Given the description of an element on the screen output the (x, y) to click on. 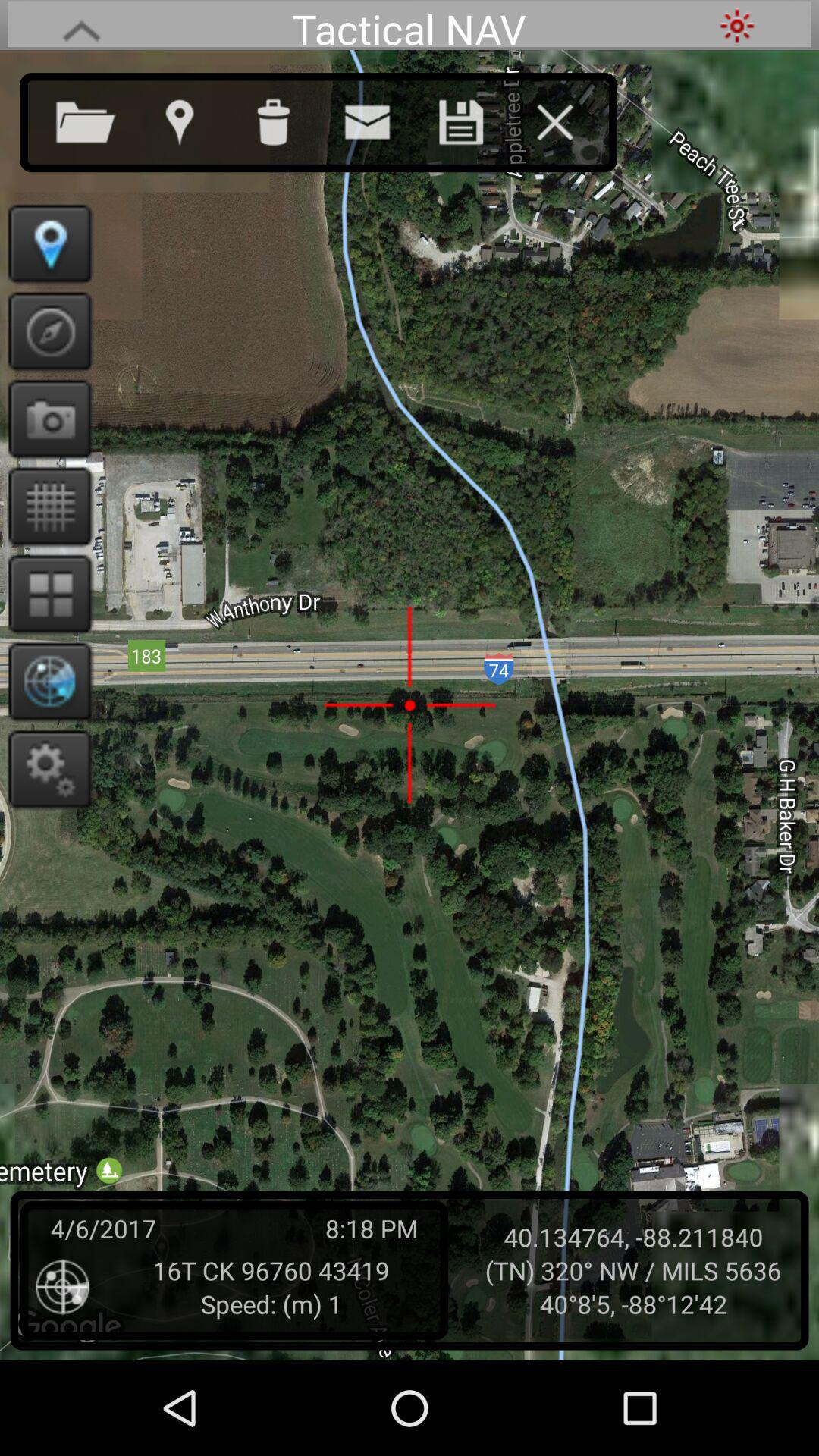
sends via message (382, 119)
